Given the description of an element on the screen output the (x, y) to click on. 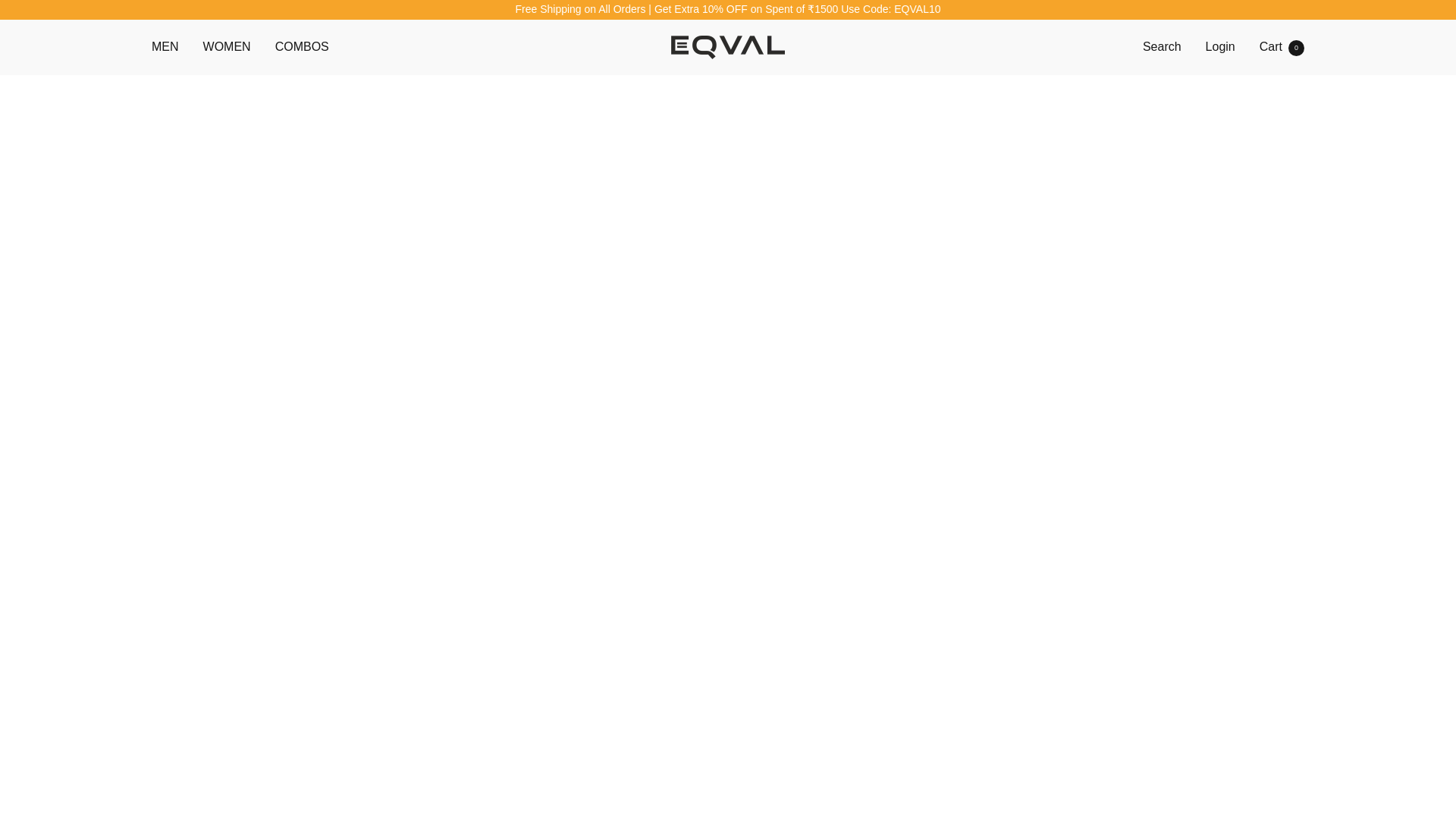
Login (1281, 46)
WOMEN (1219, 46)
Search (226, 46)
EQVAL (1161, 46)
COMBOS (727, 47)
MEN (302, 46)
